Given the description of an element on the screen output the (x, y) to click on. 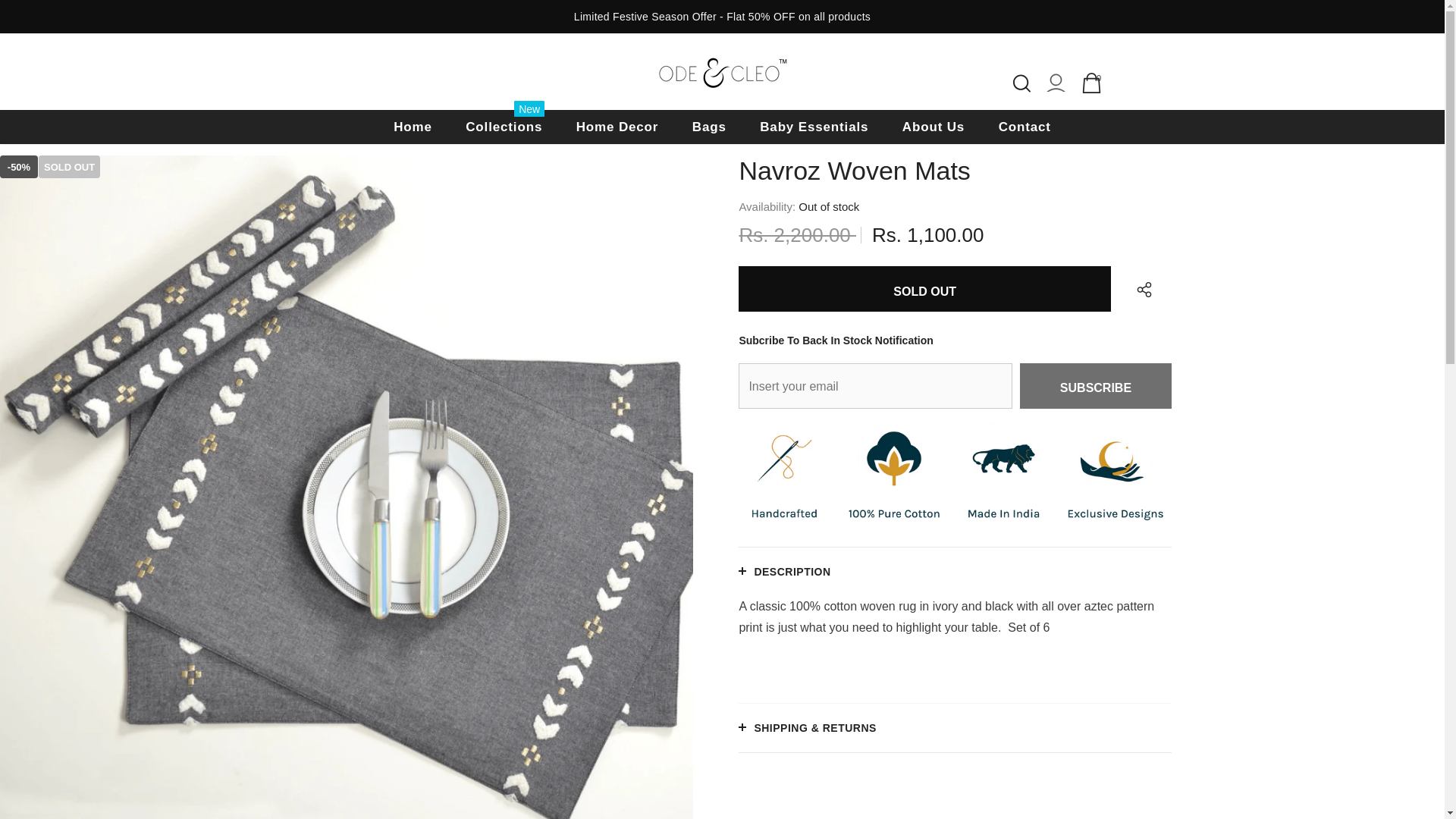
Sold Out (924, 289)
Baby Essentials (503, 126)
Cart (813, 126)
About Us (1091, 82)
Bags (932, 126)
Search Icon (709, 126)
Home Decor (1021, 83)
Subscribe (617, 126)
0 (1096, 384)
Logo (1091, 82)
Home (722, 71)
Contact (412, 126)
